Given the description of an element on the screen output the (x, y) to click on. 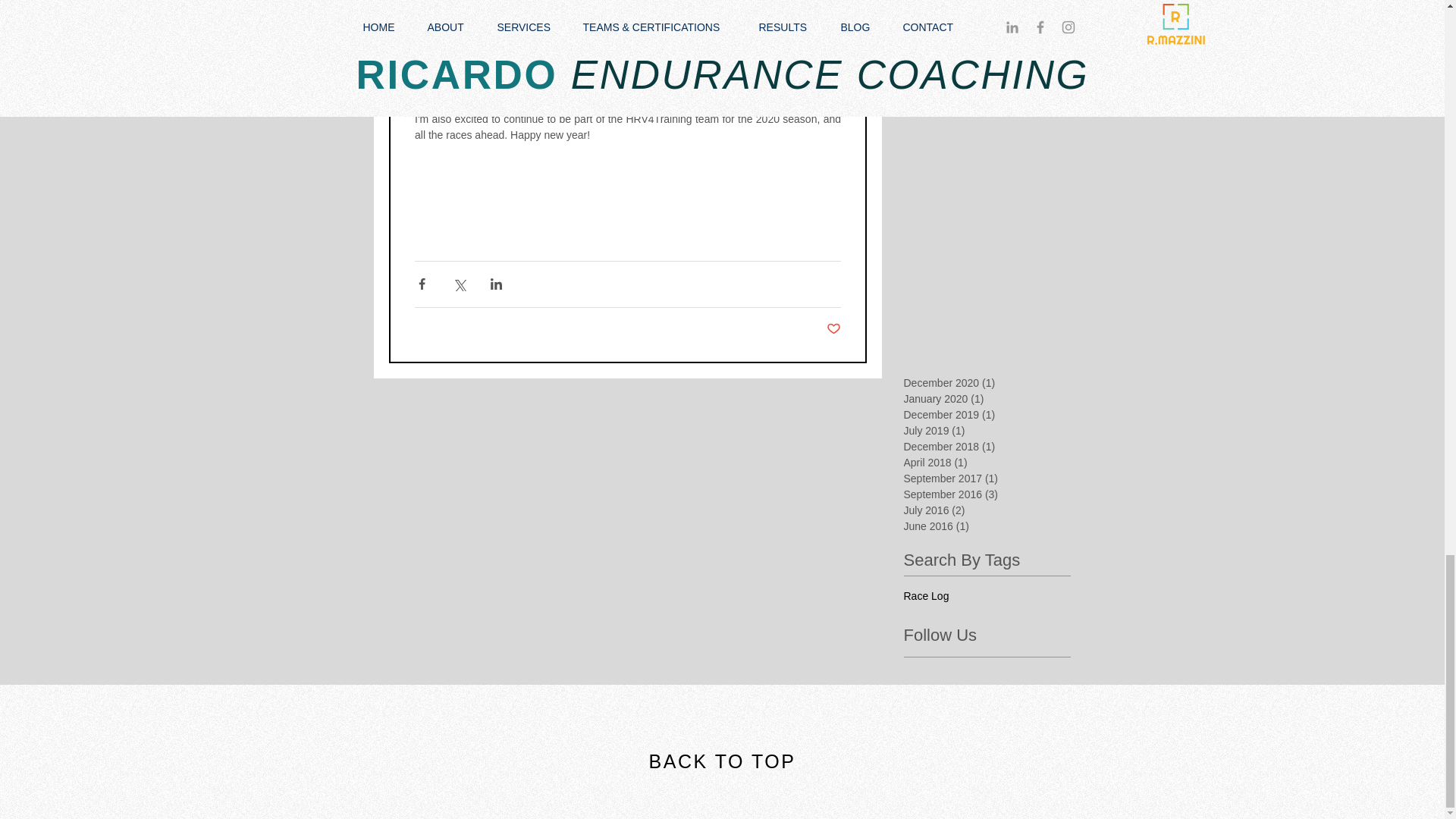
Post not marked as liked (834, 329)
HRV4Training (565, 55)
